Given the description of an element on the screen output the (x, y) to click on. 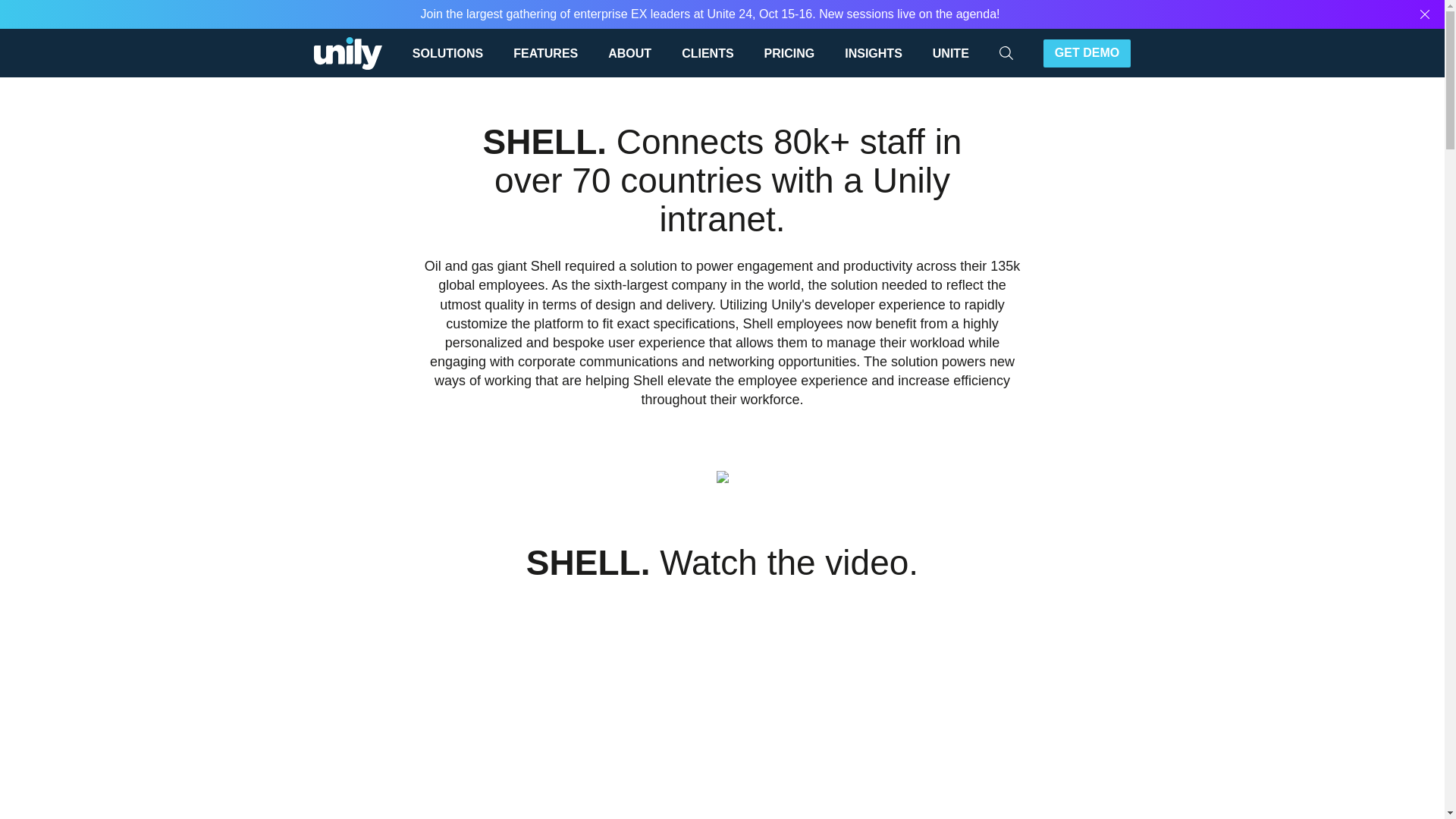
Close (1425, 13)
SOLUTIONS (454, 52)
Search (1055, 52)
